Given the description of an element on the screen output the (x, y) to click on. 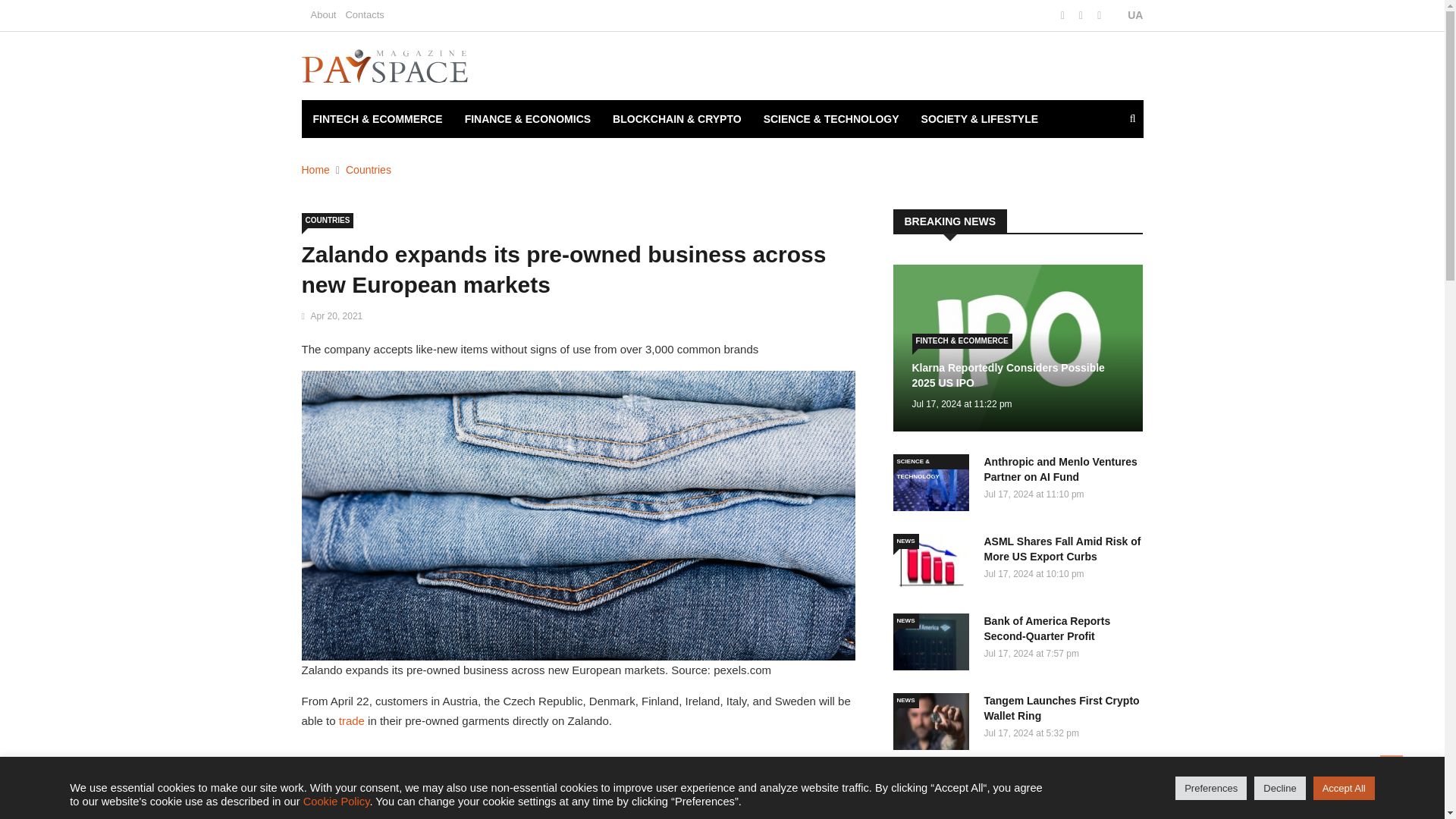
COUNTRIES (327, 220)
Contacts (364, 14)
About (323, 14)
trade (353, 720)
Back to Top (1391, 766)
Home (315, 169)
UA (1127, 15)
BIN CHECKER (349, 157)
Countries (368, 169)
